Given the description of an element on the screen output the (x, y) to click on. 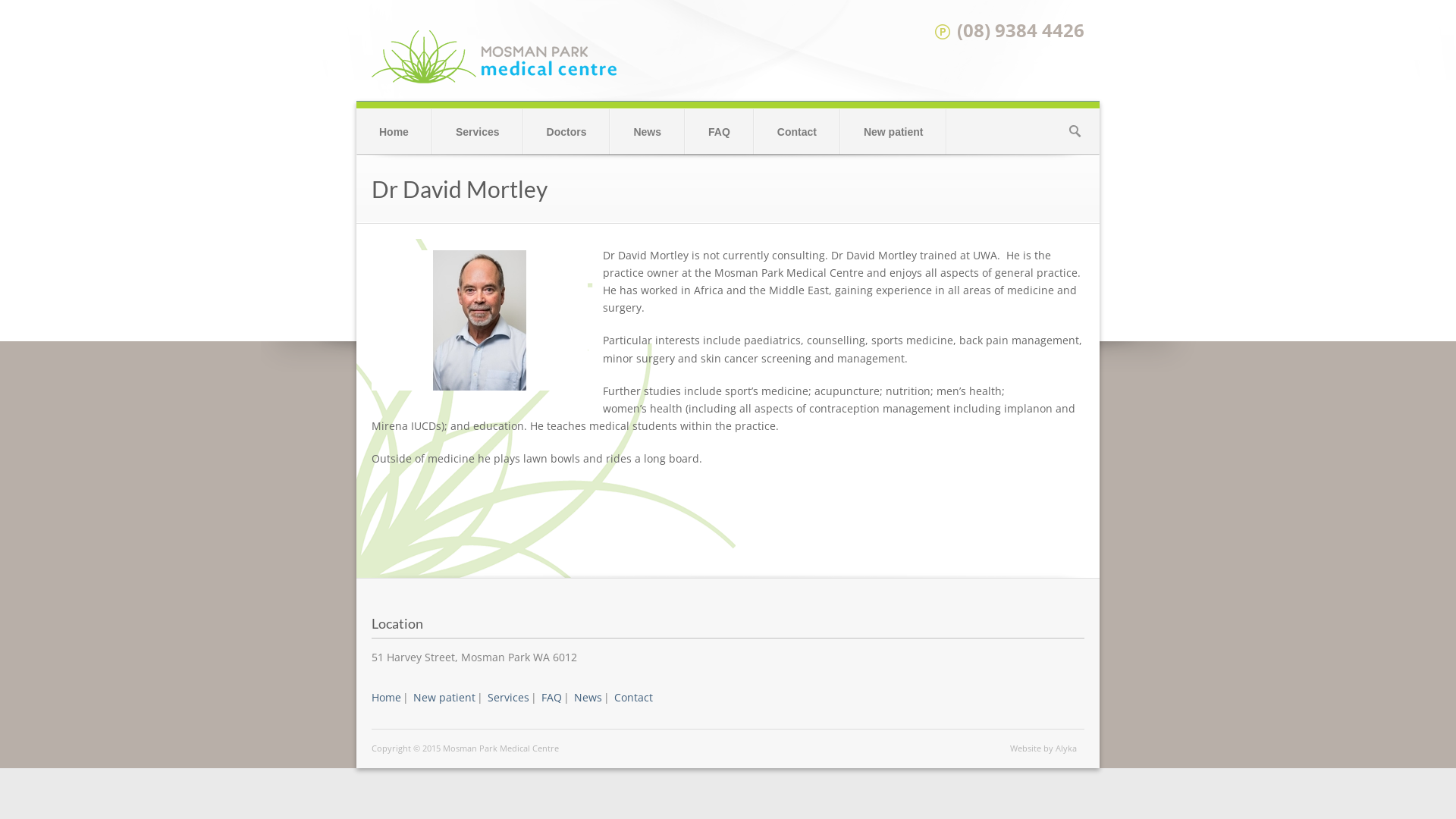
Website by Alyka Element type: text (1043, 747)
New patient Element type: text (444, 697)
Contact Element type: text (633, 697)
Contact Element type: text (796, 131)
FAQ Element type: text (551, 697)
Services Element type: text (508, 697)
Home Element type: text (393, 131)
News Element type: text (588, 697)
New patient Element type: text (893, 131)
FAQ Element type: text (719, 131)
Home Element type: text (386, 697)
Services Element type: text (477, 131)
News Element type: text (647, 131)
Doctors Element type: text (566, 131)
